Given the description of an element on the screen output the (x, y) to click on. 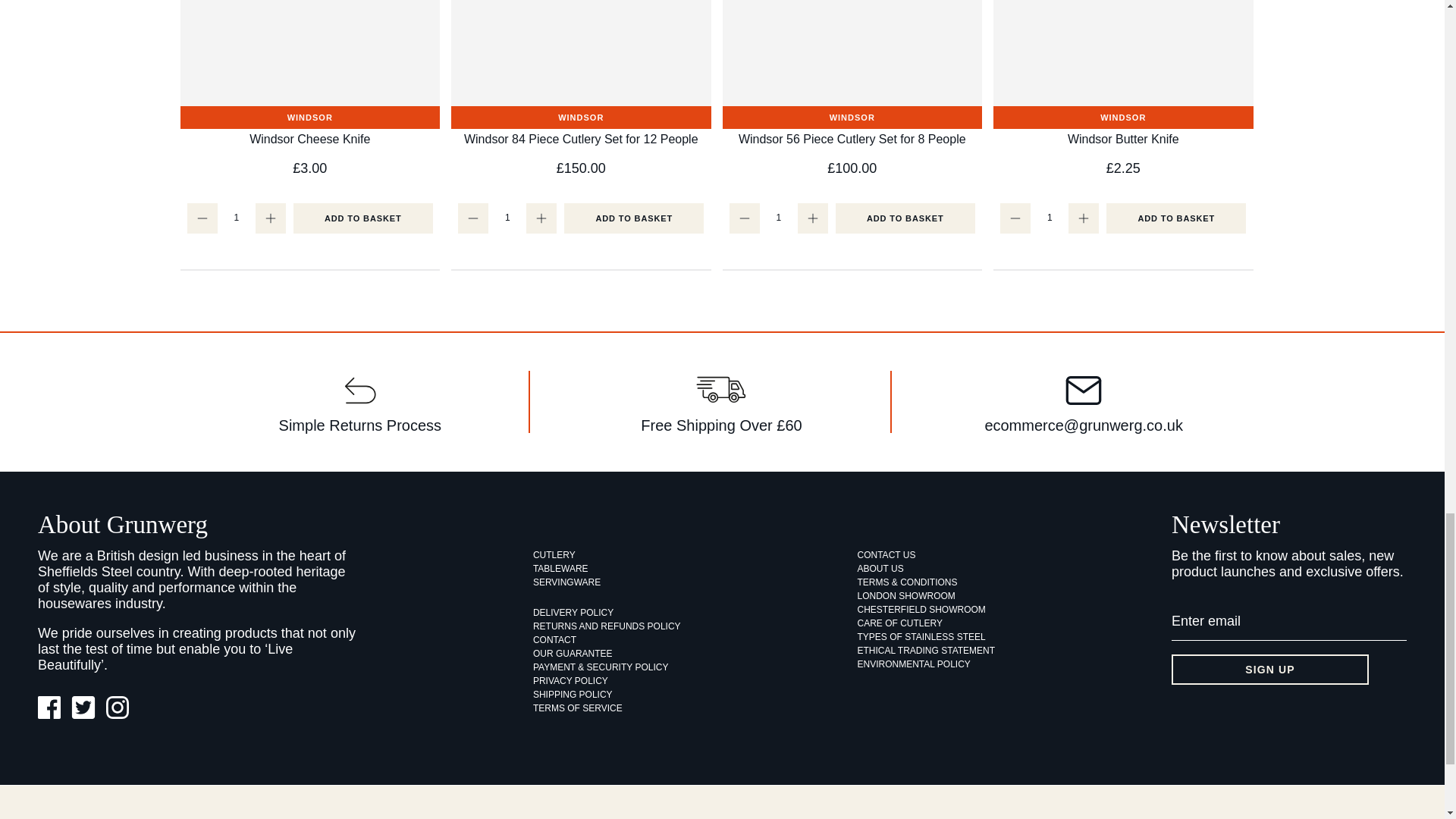
Add to basket (363, 218)
Add to basket (905, 218)
1 (777, 216)
1 (507, 216)
1 (236, 216)
Add to basket (633, 218)
Minus (202, 218)
Add to basket (1176, 218)
1 (1048, 216)
